Given the description of an element on the screen output the (x, y) to click on. 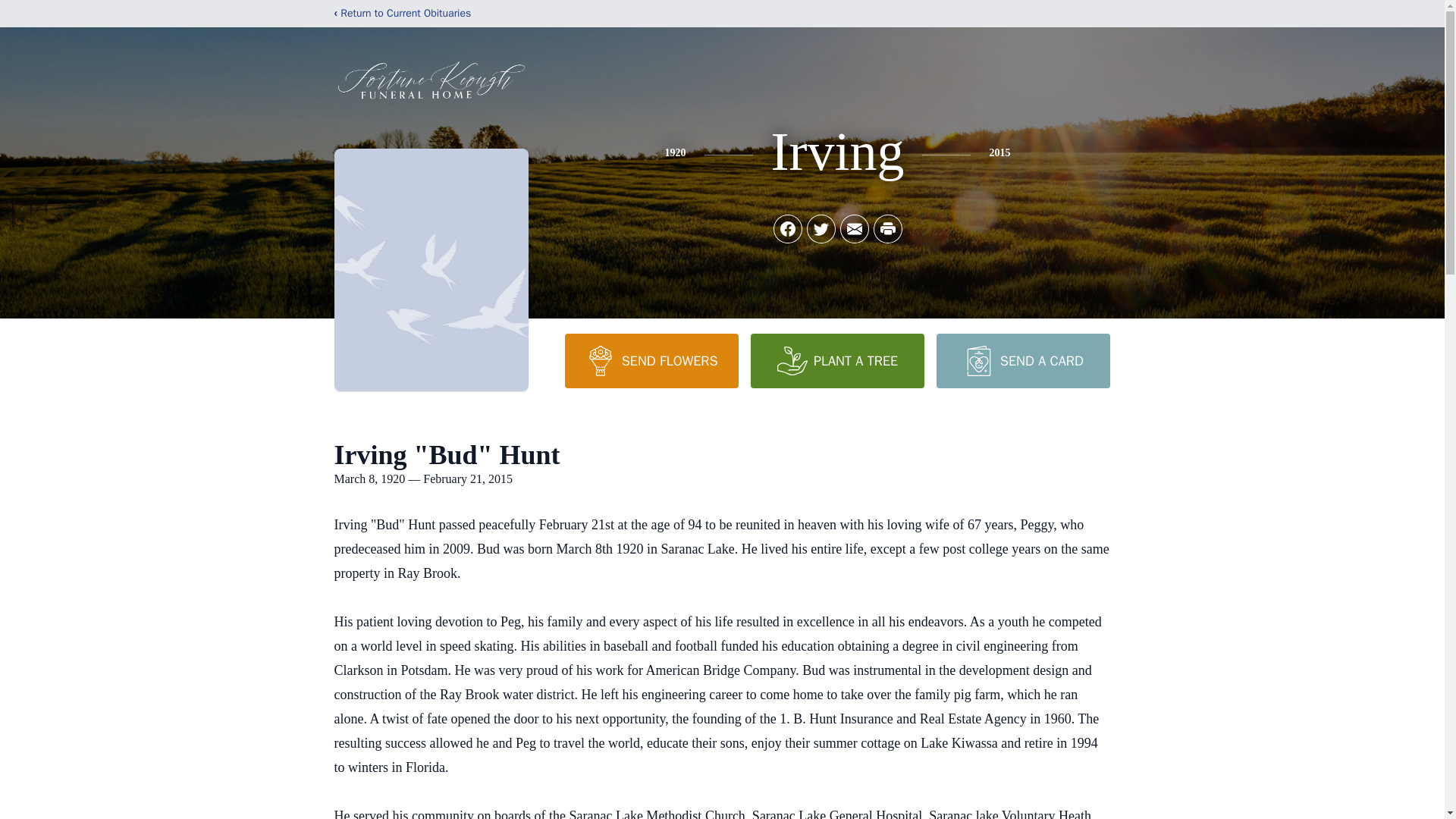
SEND FLOWERS (651, 360)
SEND A CARD (1022, 360)
PLANT A TREE (837, 360)
